Given the description of an element on the screen output the (x, y) to click on. 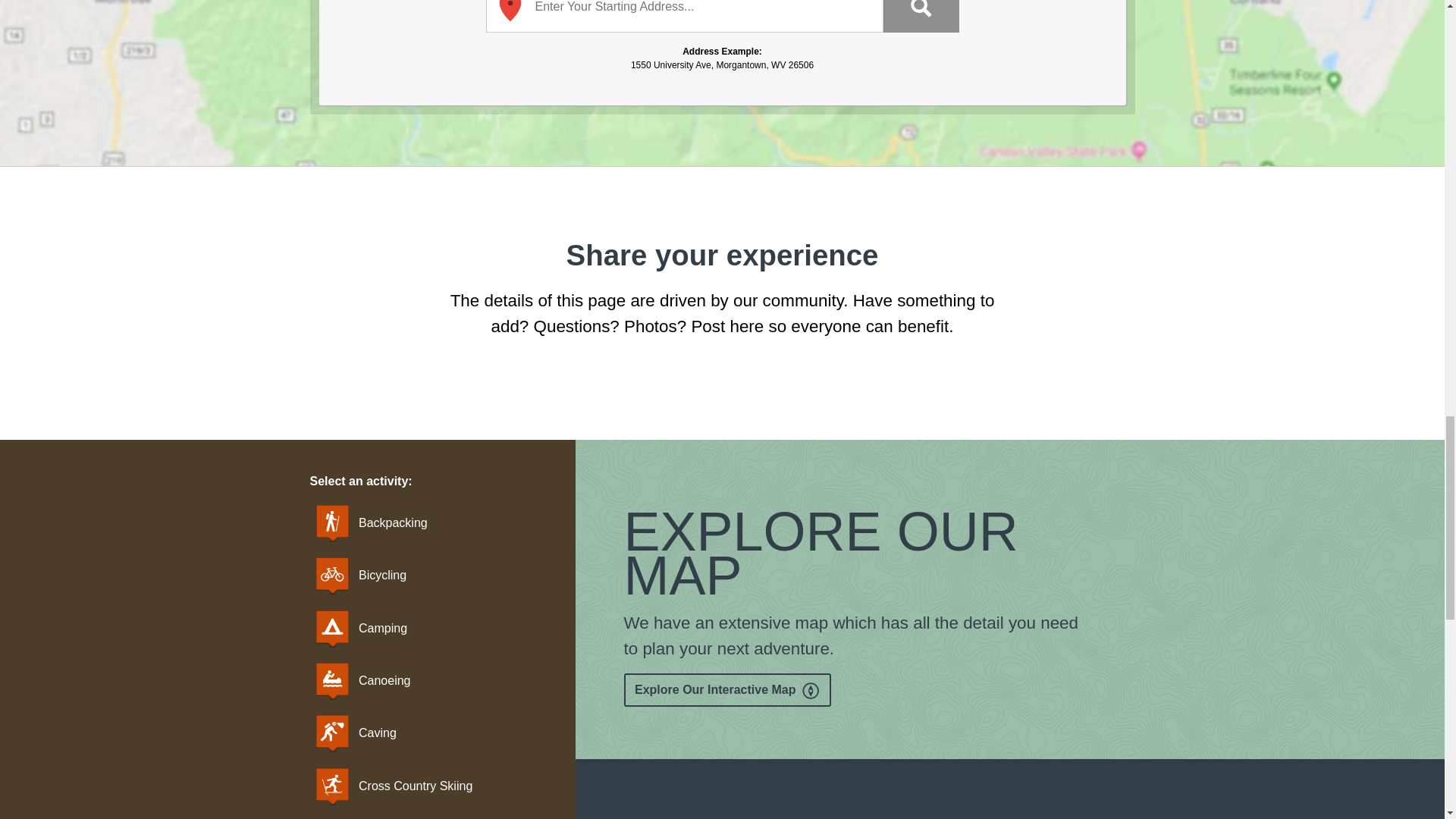
Get Directions (920, 16)
Get Directions (920, 16)
